Given the description of an element on the screen output the (x, y) to click on. 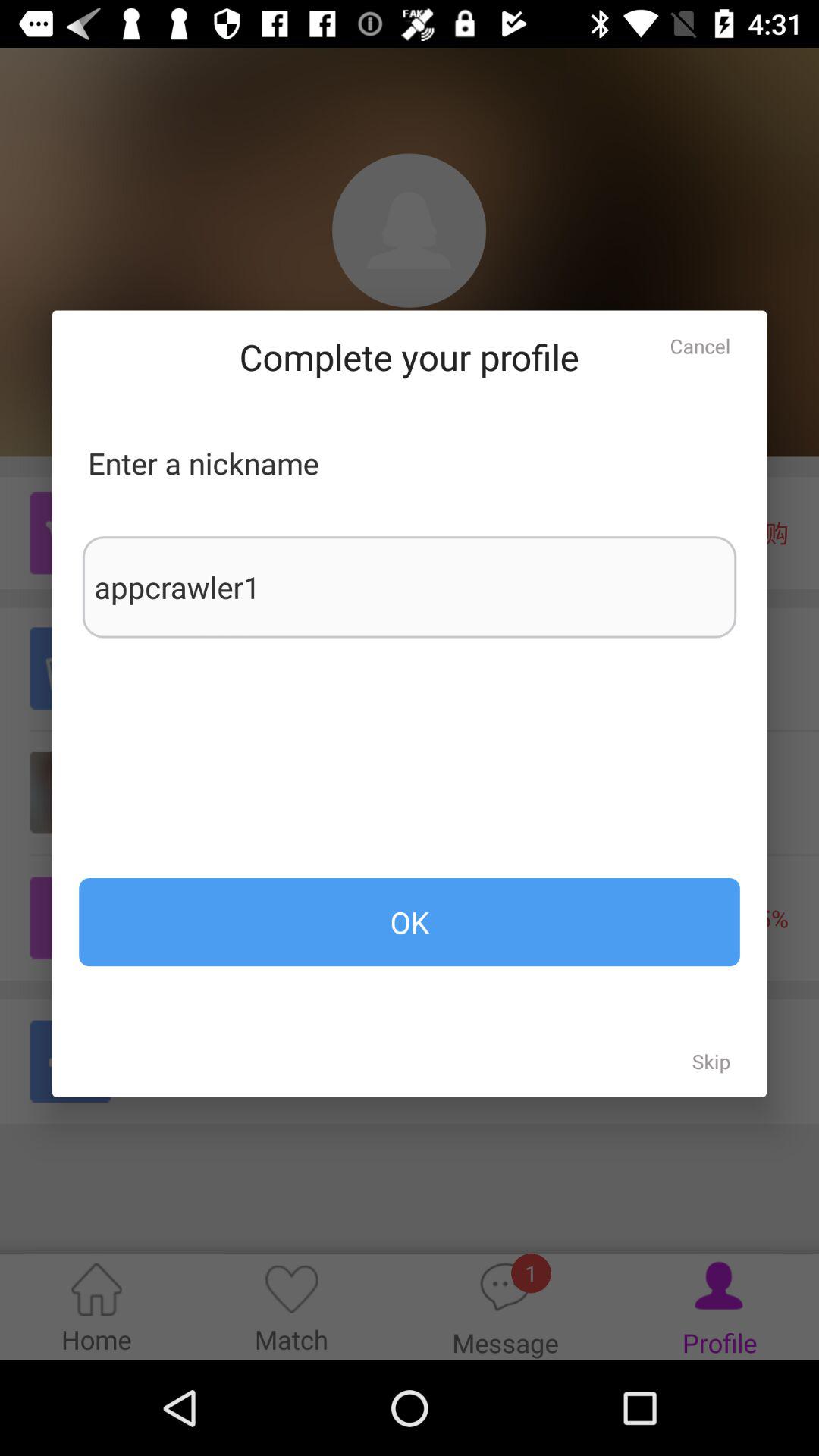
flip to the cancel icon (700, 345)
